Given the description of an element on the screen output the (x, y) to click on. 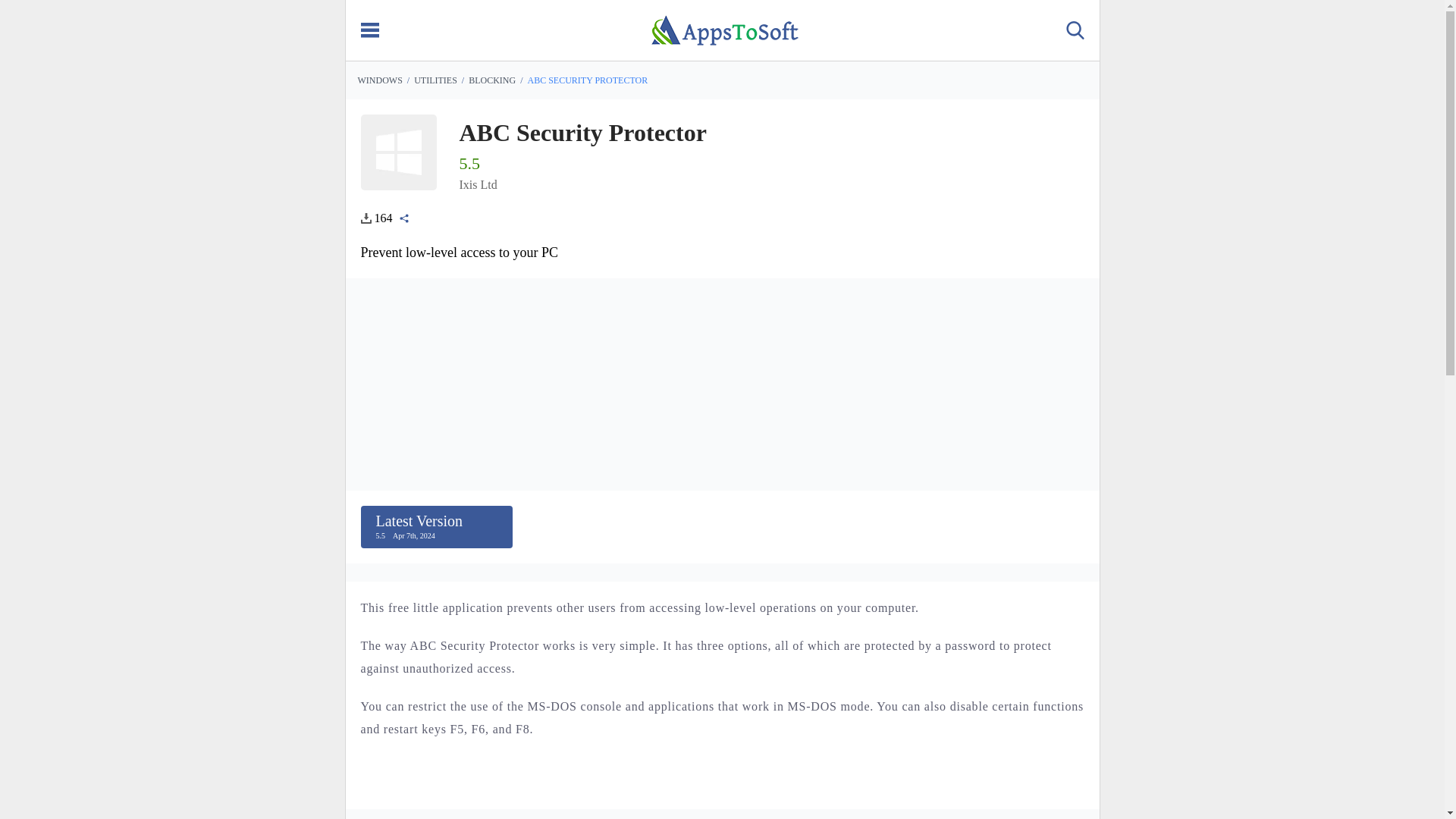
BLOCKING (491, 80)
UTILITIES (436, 526)
Advertisement (435, 80)
WINDOWS (722, 814)
